Given the description of an element on the screen output the (x, y) to click on. 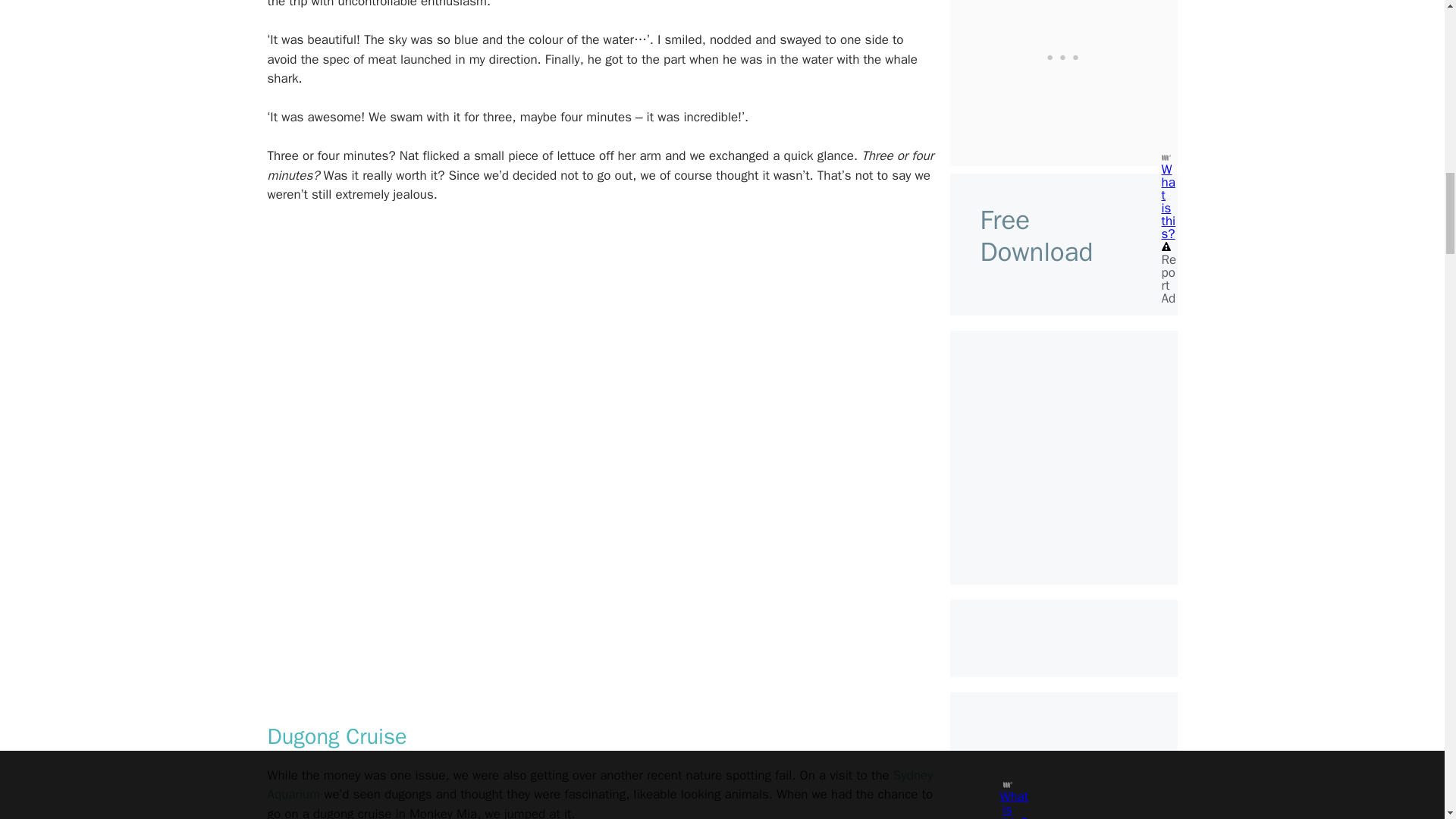
Booking.com (1063, 545)
